Given the description of an element on the screen output the (x, y) to click on. 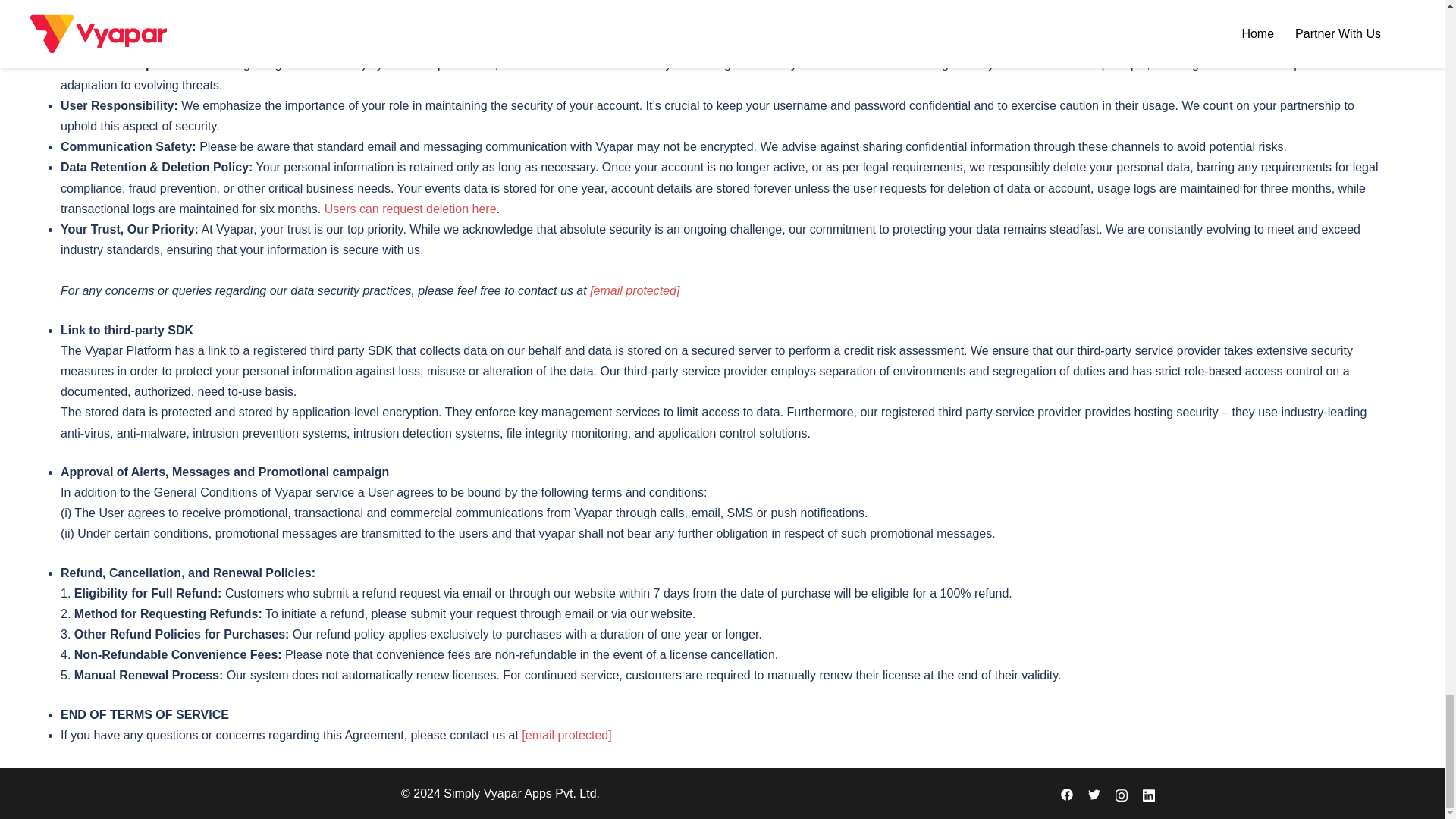
Users can request deletion here (410, 208)
